Given the description of an element on the screen output the (x, y) to click on. 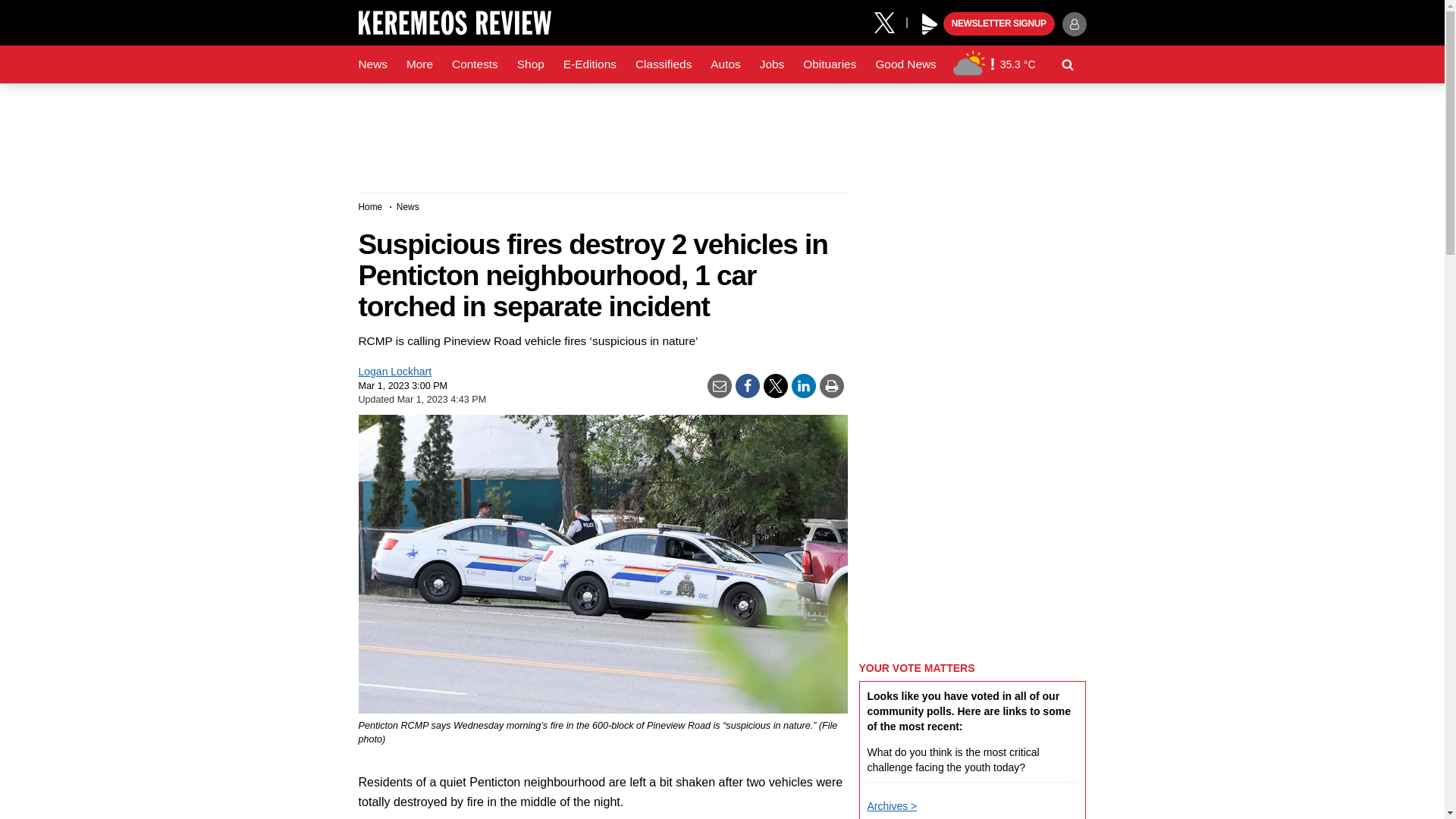
News (372, 64)
Play (929, 24)
Black Press Media (929, 24)
X (889, 21)
NEWSLETTER SIGNUP (998, 24)
3rd party ad content (721, 131)
